Given the description of an element on the screen output the (x, y) to click on. 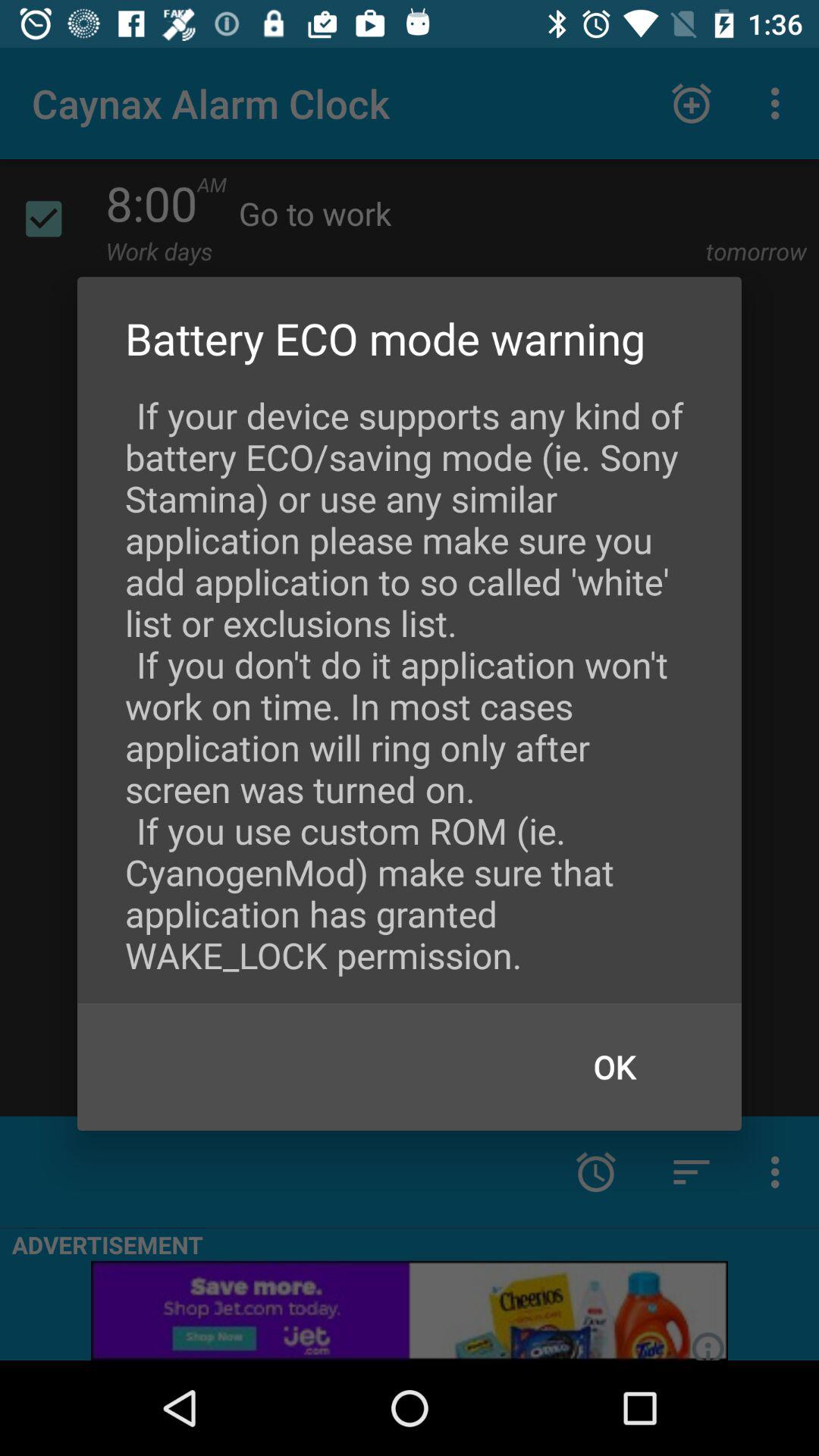
select ok icon (613, 1066)
